Given the description of an element on the screen output the (x, y) to click on. 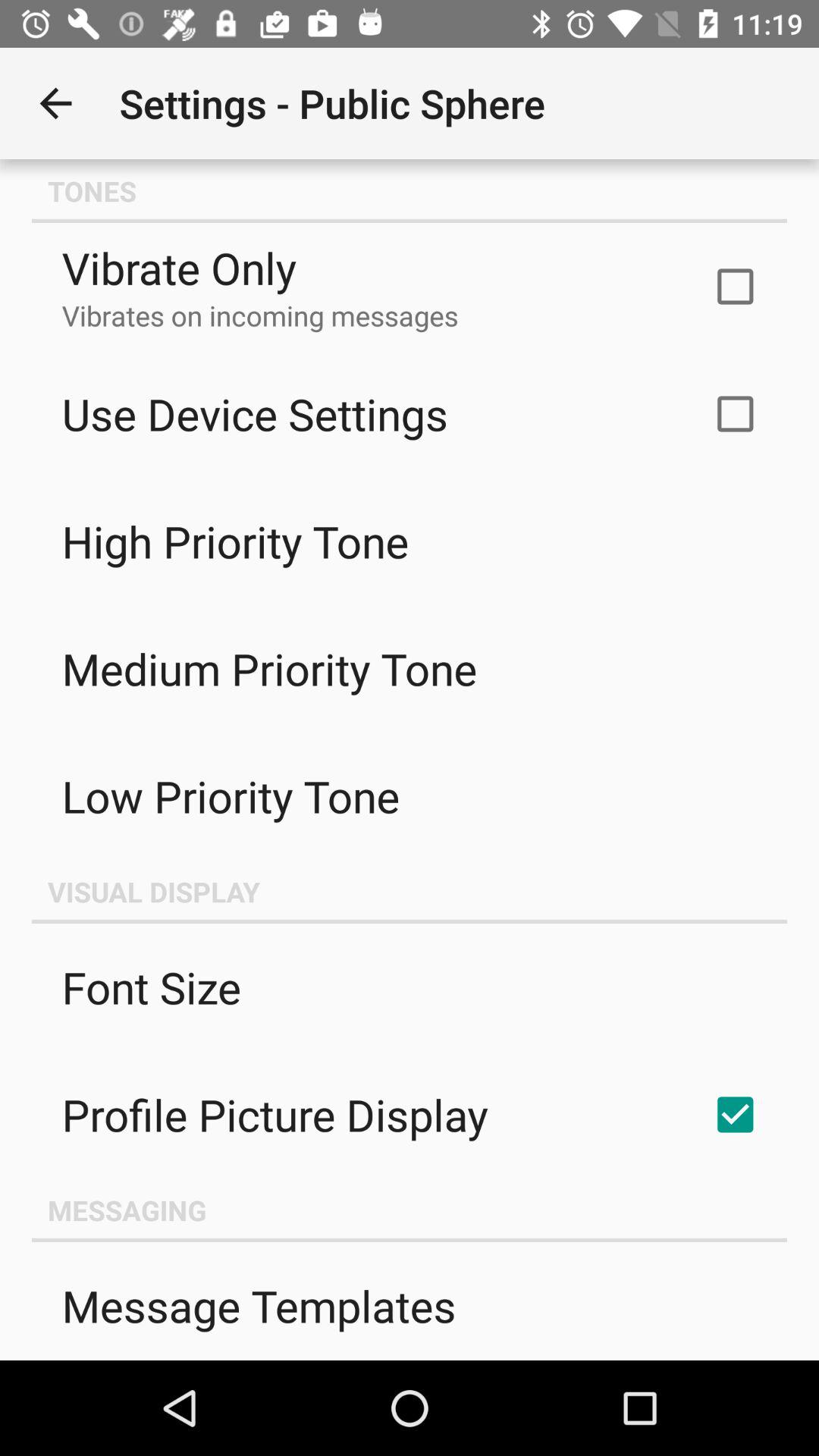
turn off the icon above vibrate only icon (409, 190)
